Given the description of an element on the screen output the (x, y) to click on. 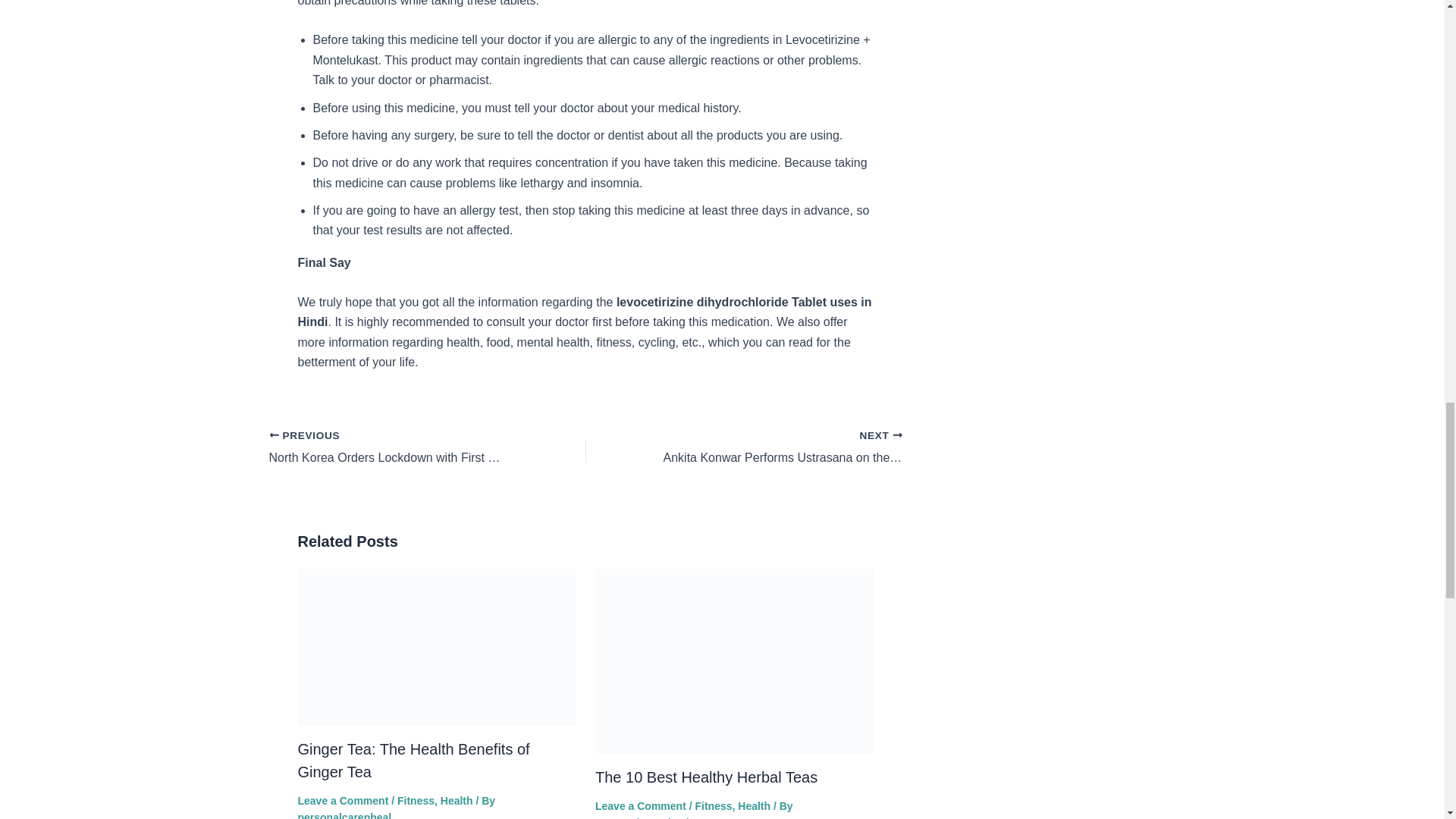
View all posts by personalcarenheal (641, 817)
Leave a Comment (640, 806)
personalcarenheal (344, 815)
Health (457, 800)
personalcarenheal (641, 817)
Ankita Konwar Performs Ustrasana on the Beach (774, 447)
View all posts by personalcarenheal (344, 815)
Fitness (774, 447)
Health (415, 800)
